Given the description of an element on the screen output the (x, y) to click on. 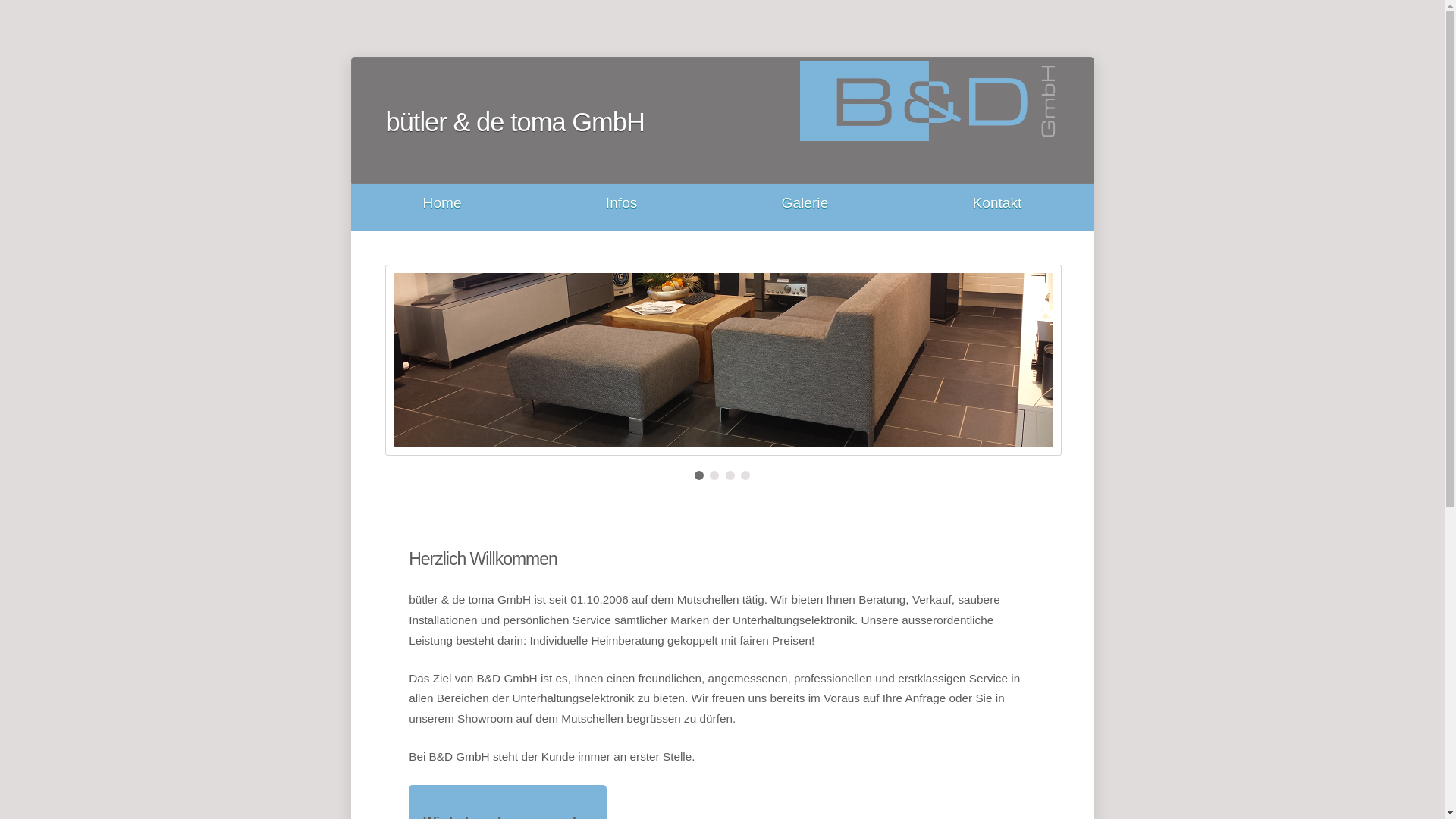
Infos Element type: text (621, 202)
Home Element type: text (442, 202)
Galerie Element type: text (804, 202)
Kontakt Element type: text (996, 202)
